Given the description of an element on the screen output the (x, y) to click on. 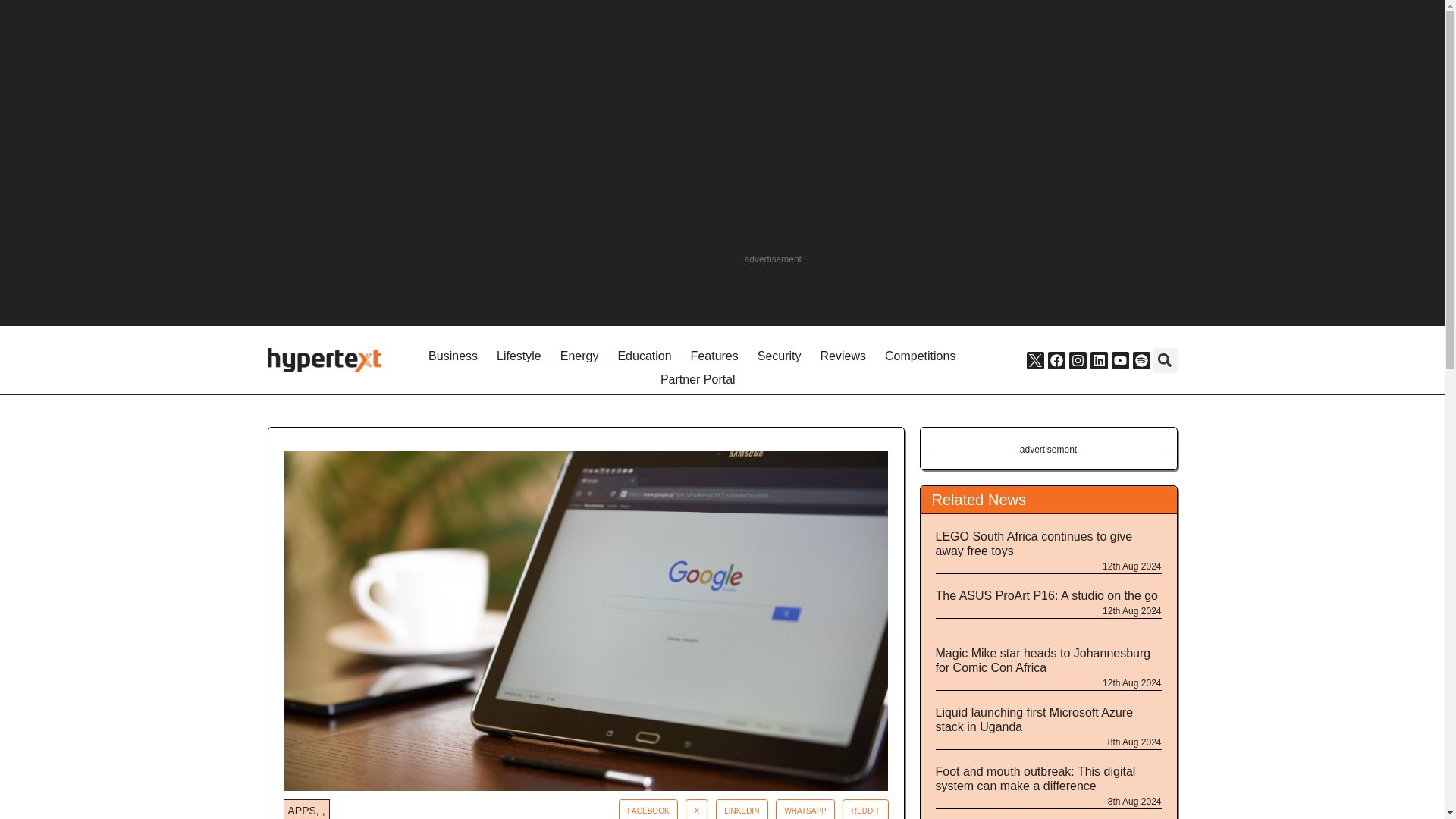
Education (643, 356)
Security (779, 356)
Business (453, 356)
Energy (579, 356)
APPS (301, 810)
Lifestyle (518, 356)
Features (714, 356)
Competitions (919, 356)
Reviews (842, 356)
Partner Portal (697, 380)
